Given the description of an element on the screen output the (x, y) to click on. 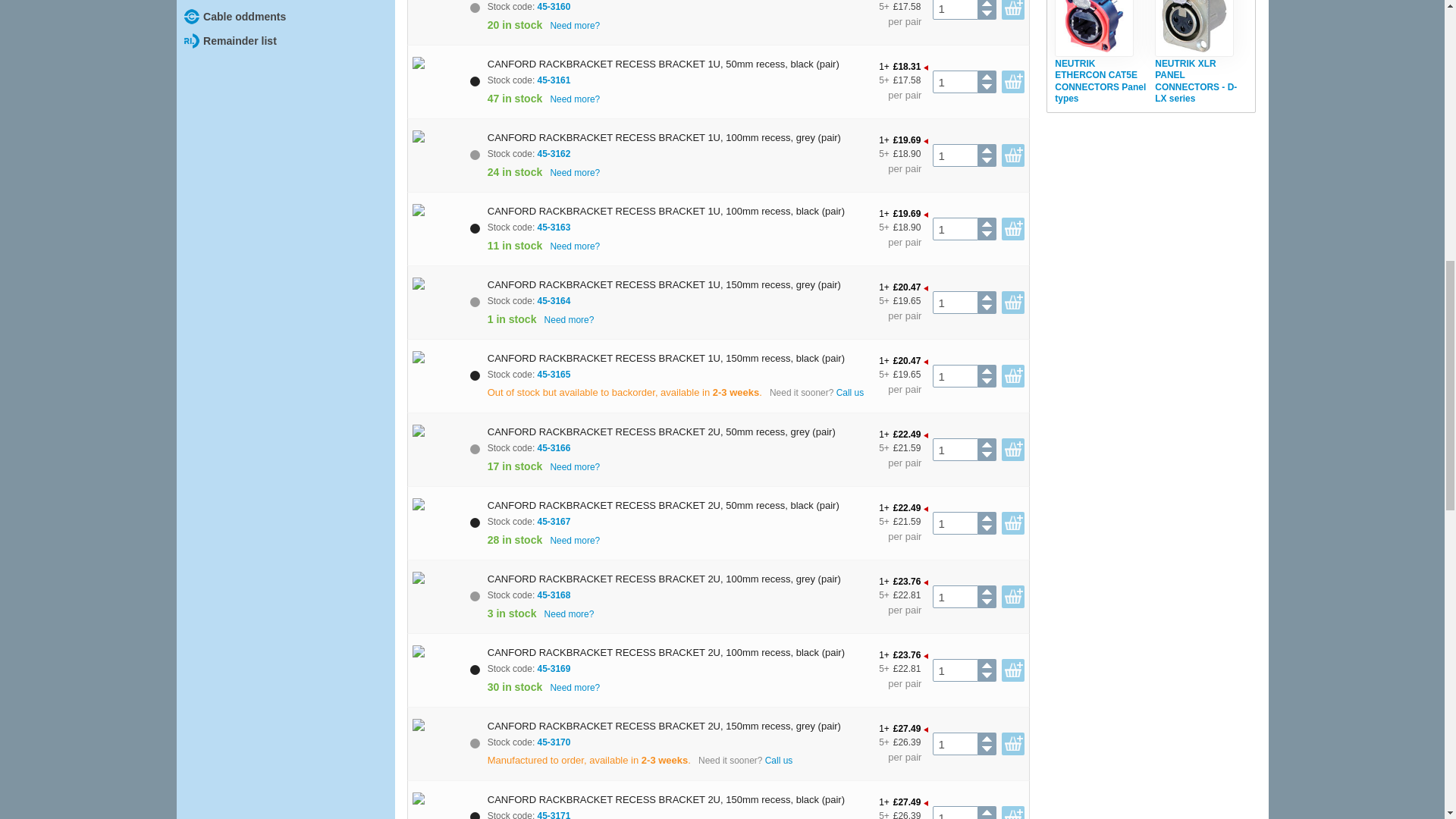
Check availability (574, 26)
1 (954, 9)
Add to basket (1013, 9)
1 (954, 228)
1 (954, 596)
Check availability (574, 100)
1 (954, 522)
1 (954, 375)
Add to basket (1013, 81)
1 (954, 155)
1 (954, 81)
1 (954, 302)
1 (954, 449)
